Given the description of an element on the screen output the (x, y) to click on. 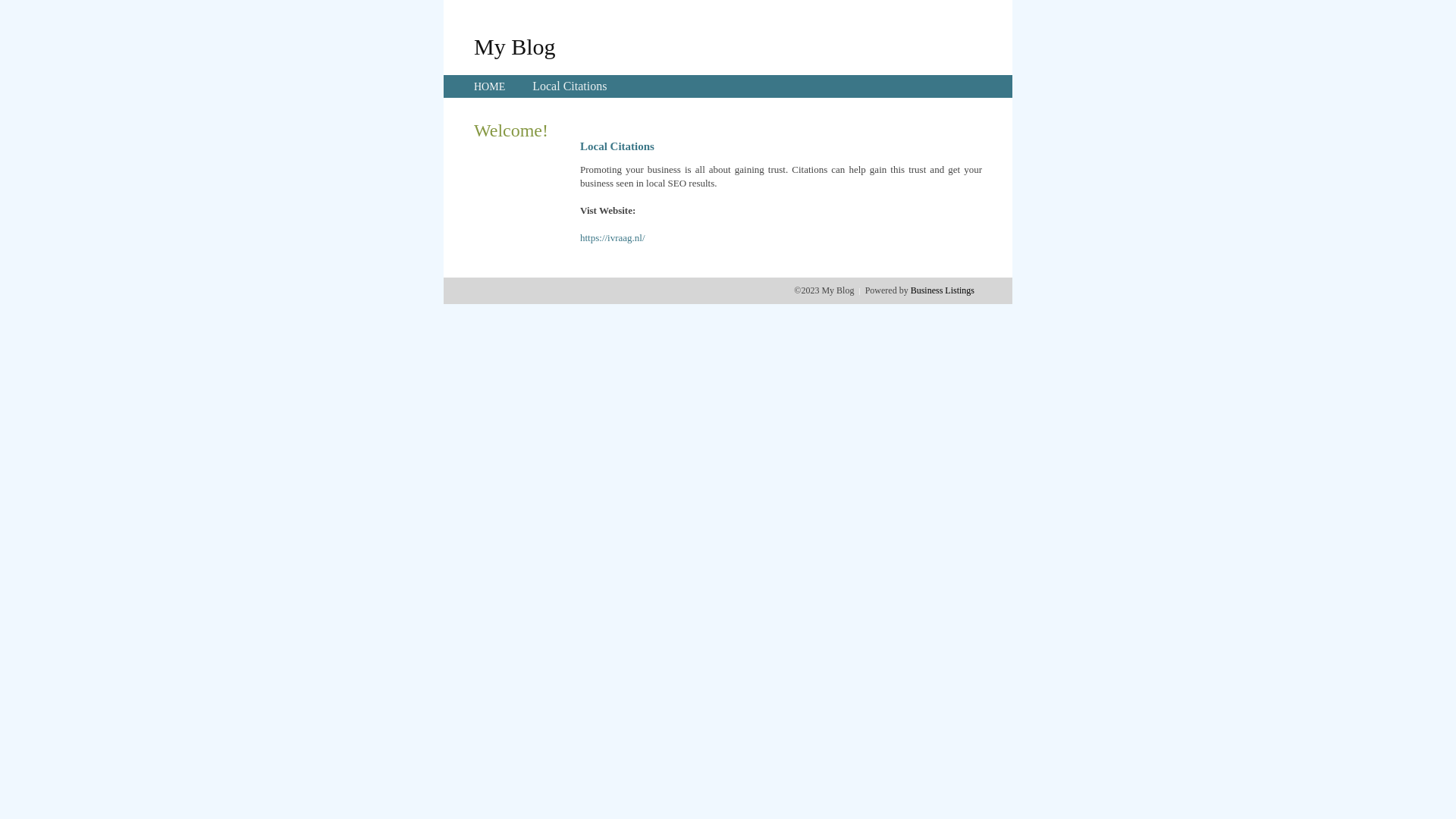
Local Citations Element type: text (569, 85)
https://ivraag.nl/ Element type: text (612, 237)
My Blog Element type: text (514, 46)
HOME Element type: text (489, 86)
Business Listings Element type: text (942, 290)
